Given the description of an element on the screen output the (x, y) to click on. 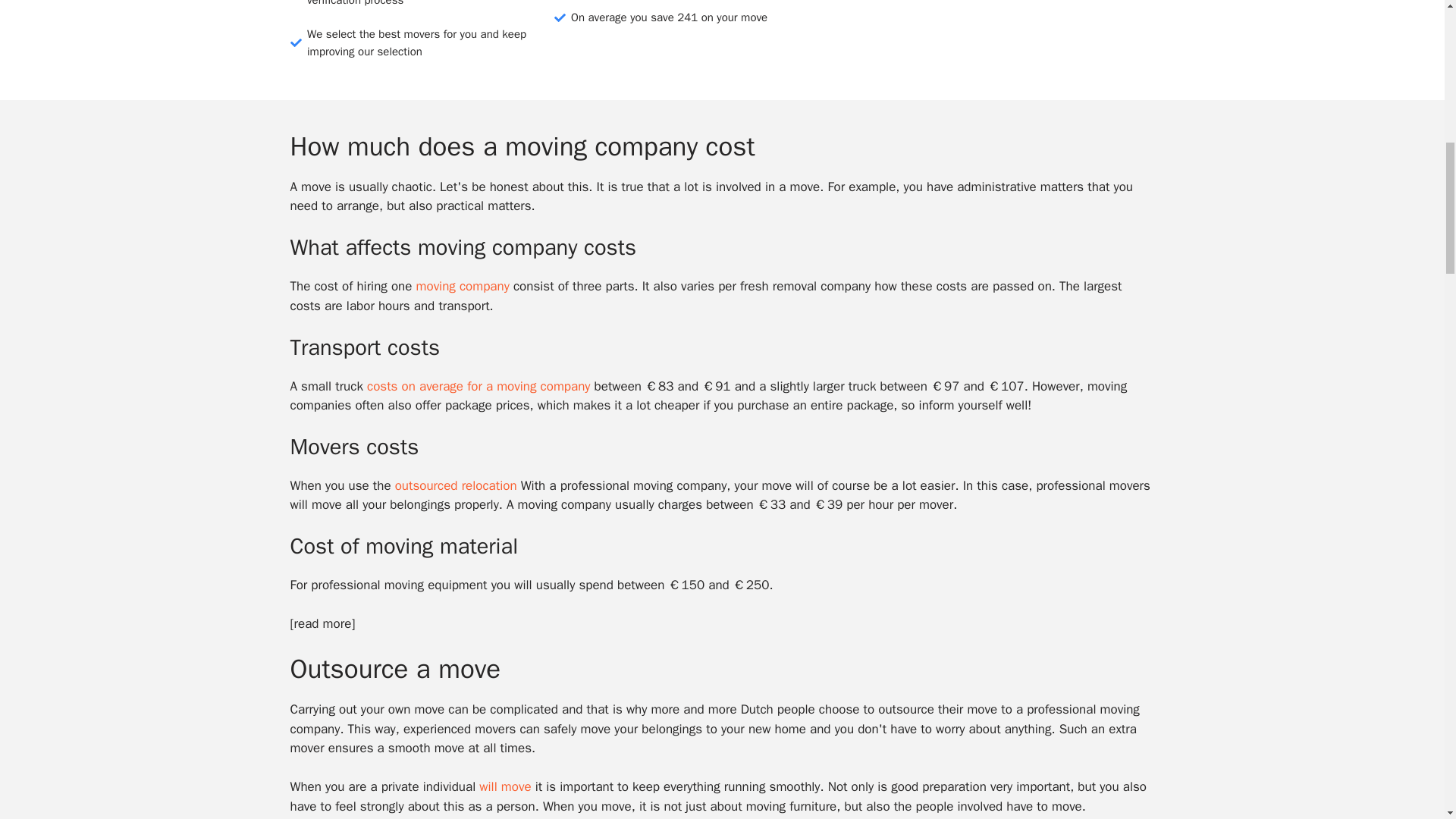
moving company (462, 286)
